Given the description of an element on the screen output the (x, y) to click on. 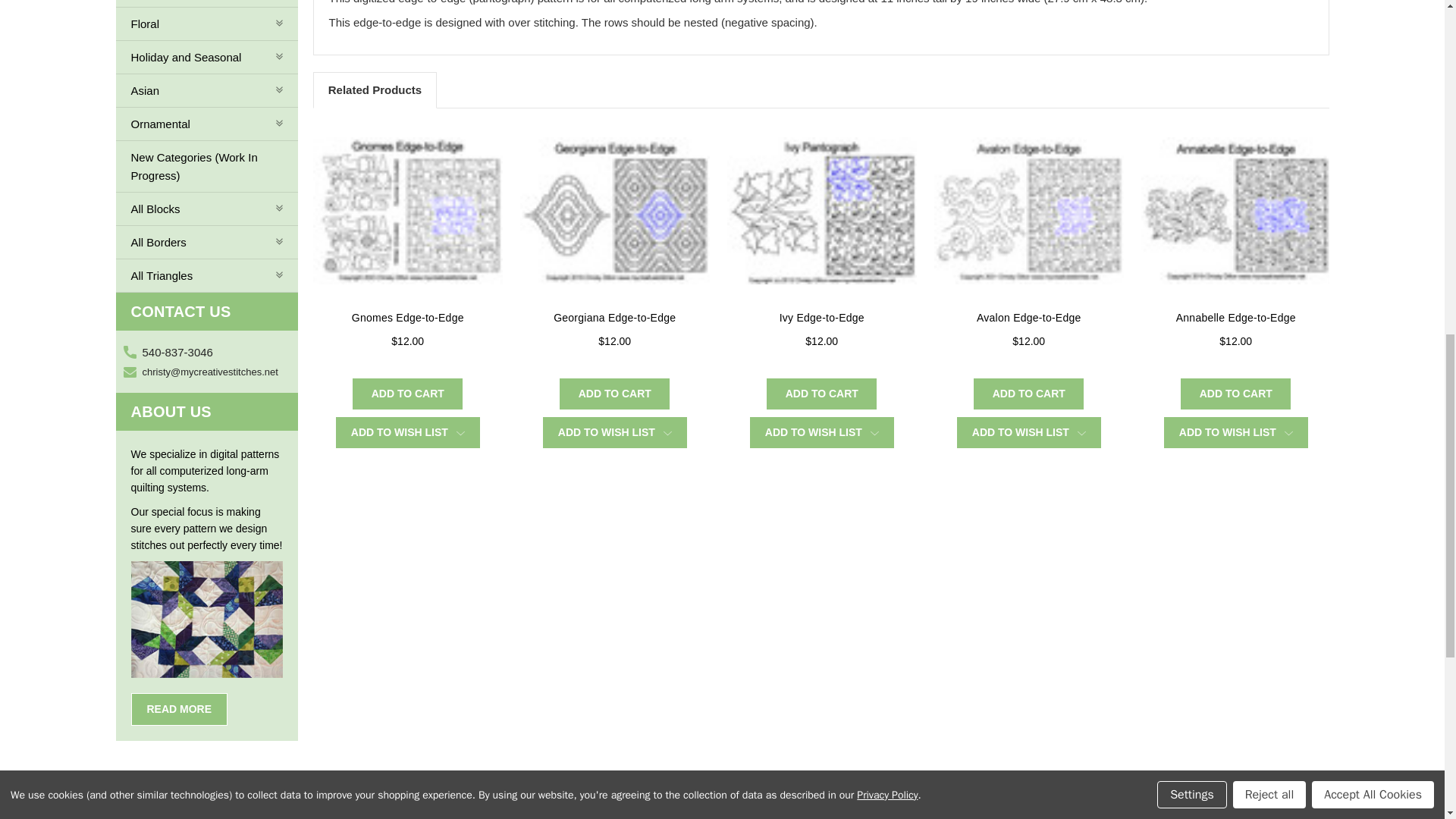
540-837-3046 (177, 351)
Georgiana edge to edge quilting designs (614, 210)
Ivy long arm quilting pantographs (821, 210)
Avalon edge-to-edge quilt pattern (1029, 210)
